Given the description of an element on the screen output the (x, y) to click on. 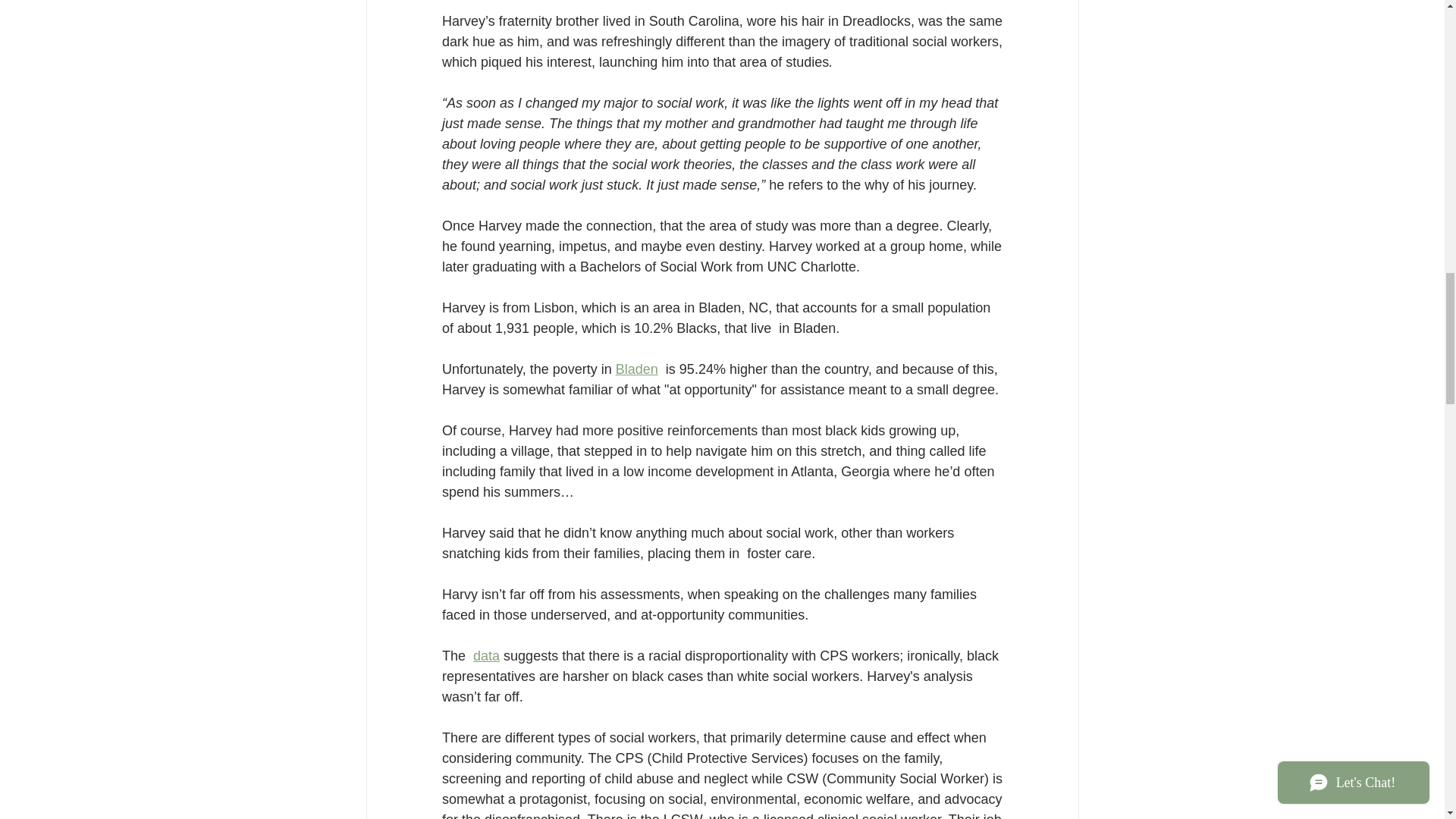
data (486, 655)
Bladen (636, 368)
